Given the description of an element on the screen output the (x, y) to click on. 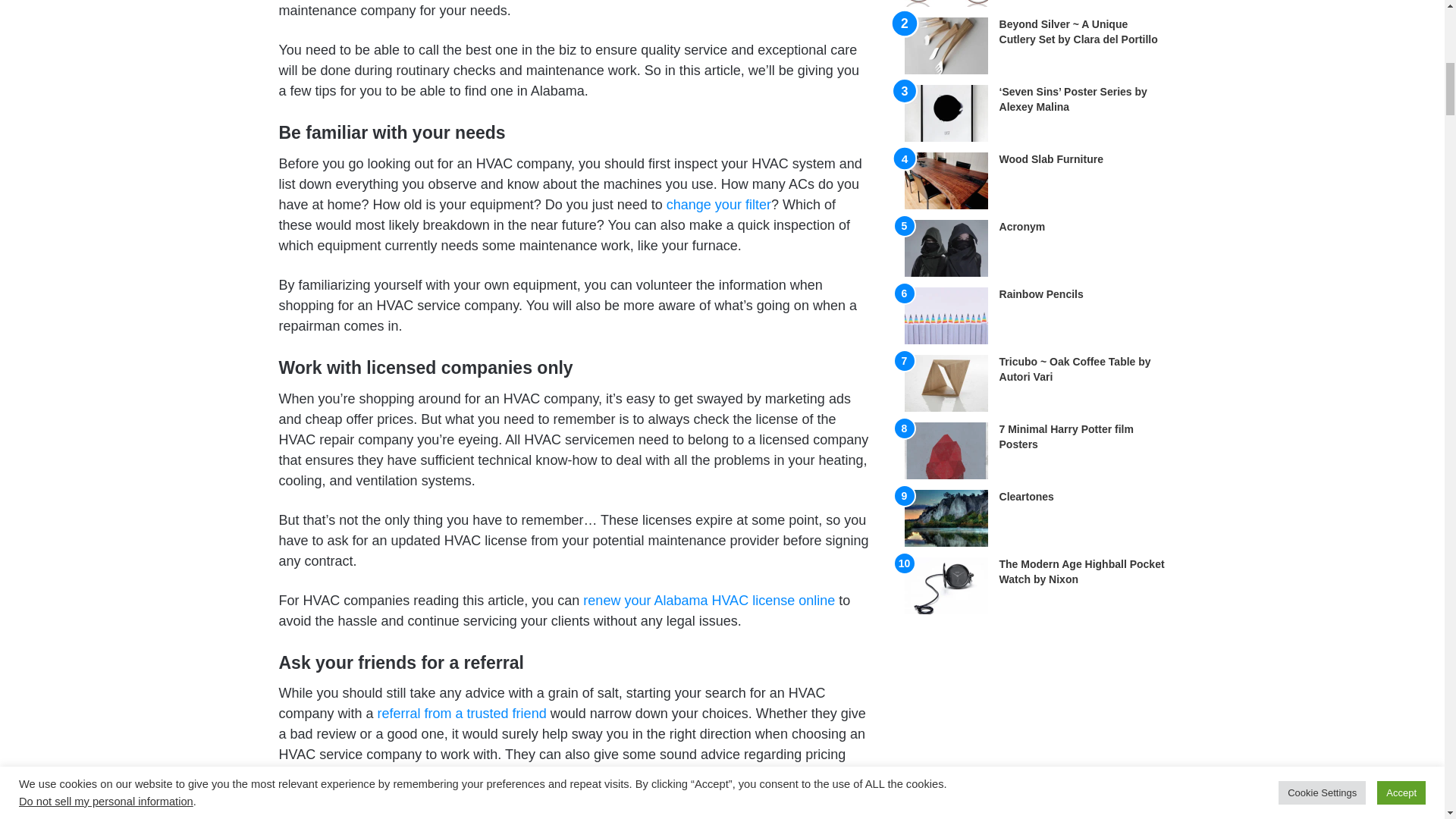
referral from a trusted friend (462, 713)
change your filter (718, 204)
renew your Alabama HVAC license online (708, 600)
